Given the description of an element on the screen output the (x, y) to click on. 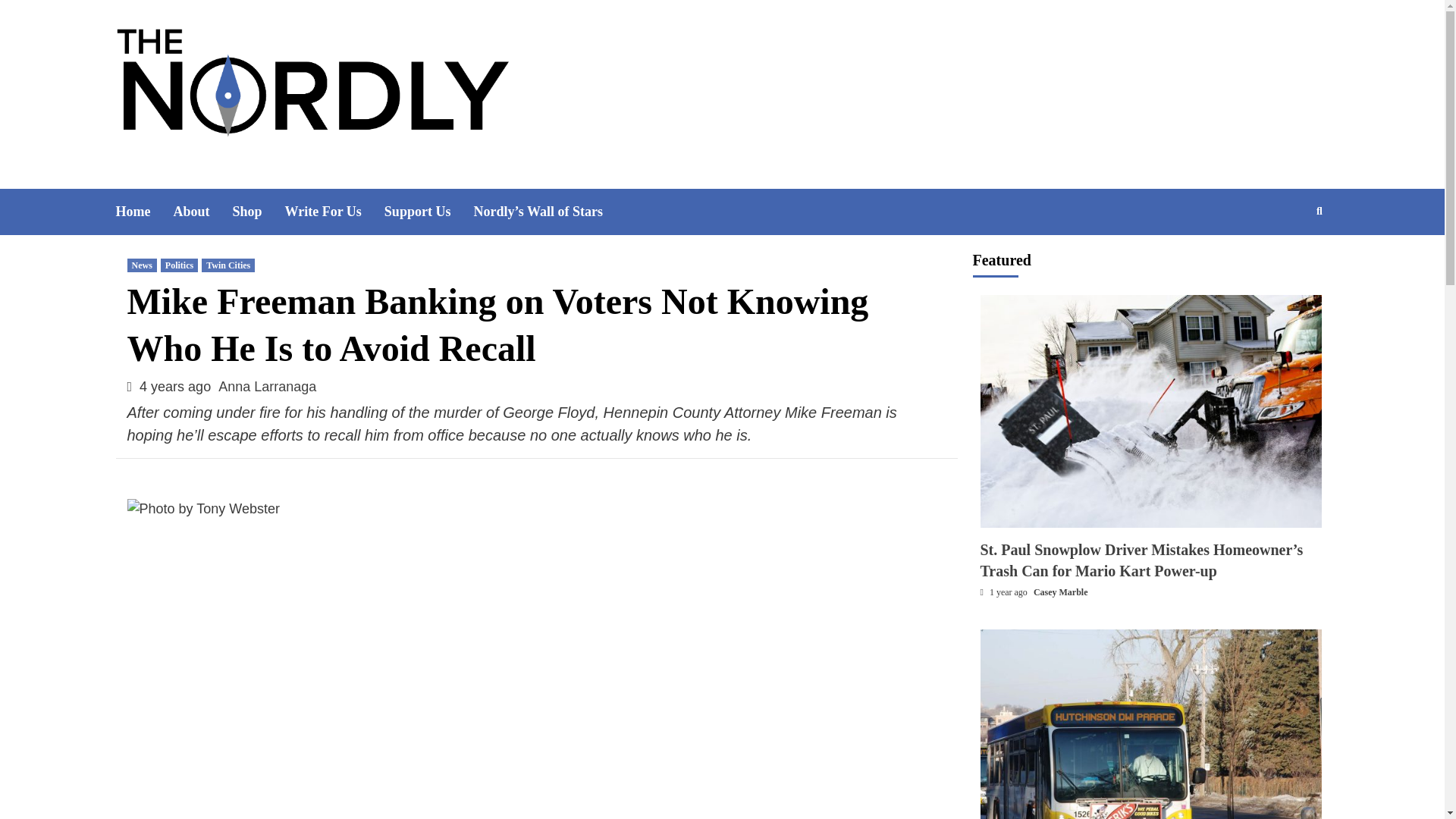
Home (144, 212)
News (142, 264)
About (202, 212)
Twin Cities (228, 264)
Casey Marble (1060, 592)
Shop (257, 212)
Support Us (429, 212)
Search (1283, 260)
Anna Larranaga (266, 386)
Write For Us (334, 212)
